Given the description of an element on the screen output the (x, y) to click on. 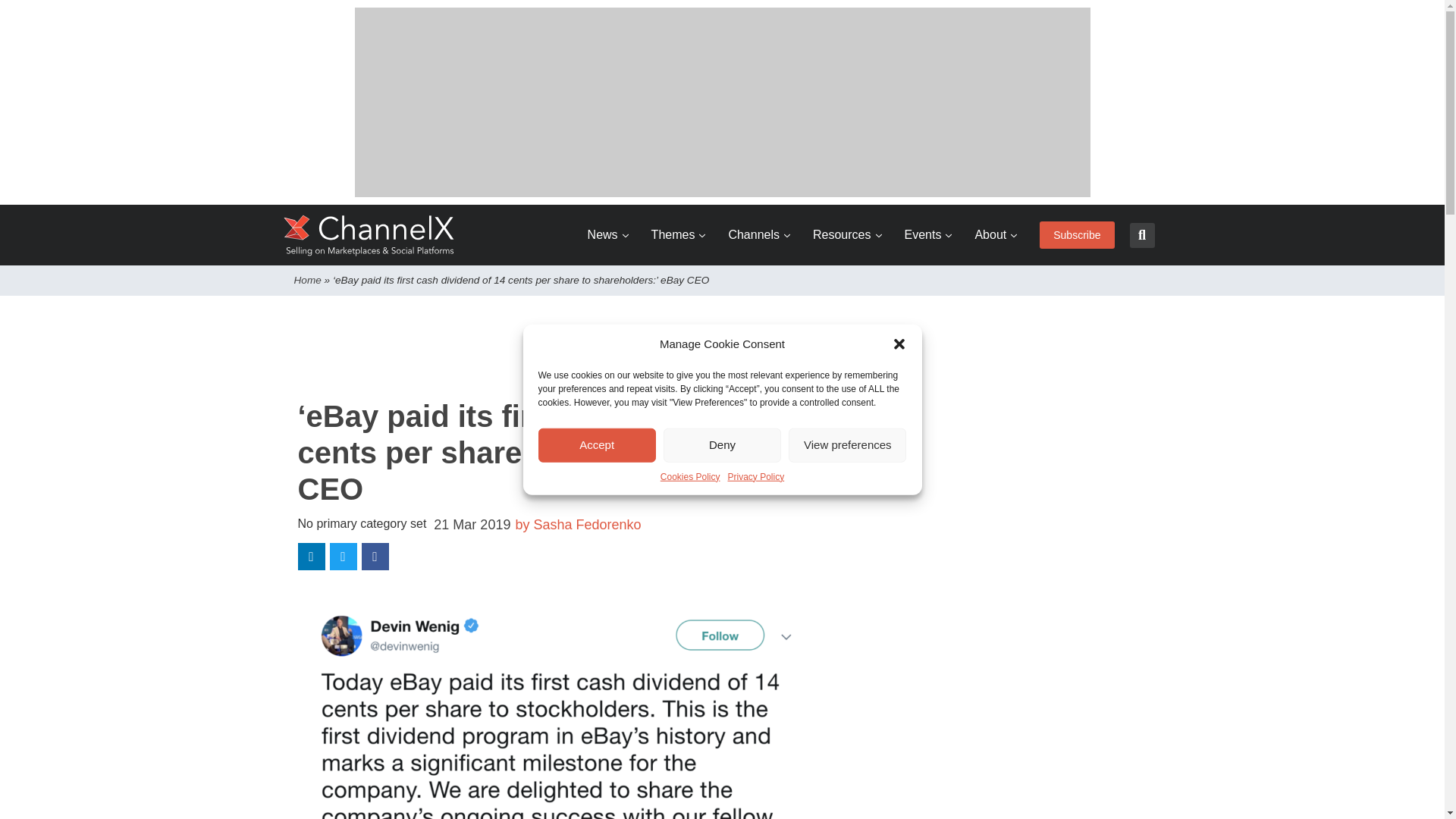
News (607, 234)
Deny (721, 444)
Themes (678, 234)
View preferences (847, 444)
Channels (758, 234)
Cookies Policy (690, 476)
ChannelX Home Page (369, 234)
Privacy Policy (756, 476)
Accept (597, 444)
